Given the description of an element on the screen output the (x, y) to click on. 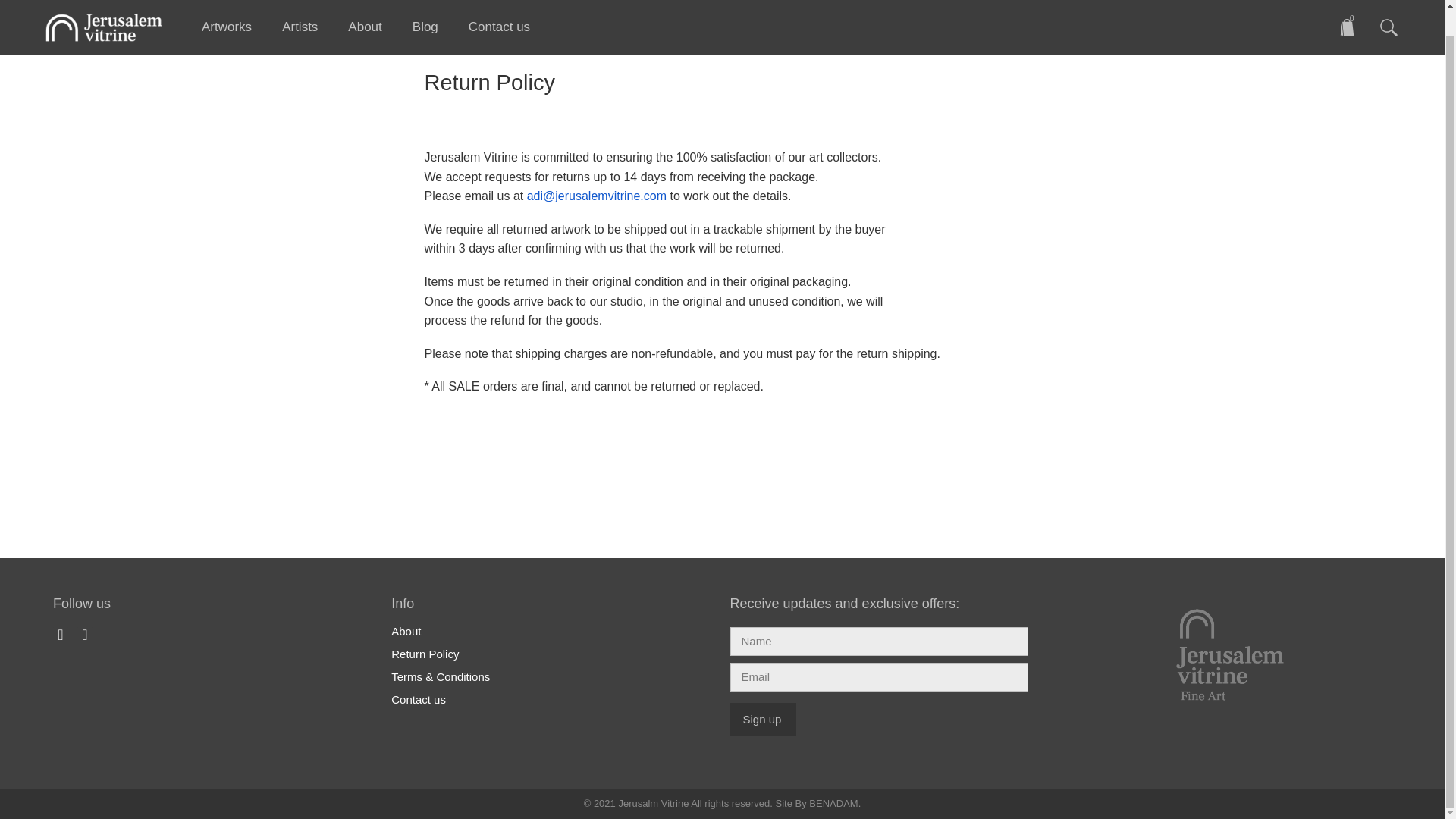
Artworks (226, 7)
About (364, 7)
Blog (424, 7)
Contact us (498, 7)
Artists (299, 7)
